Given the description of an element on the screen output the (x, y) to click on. 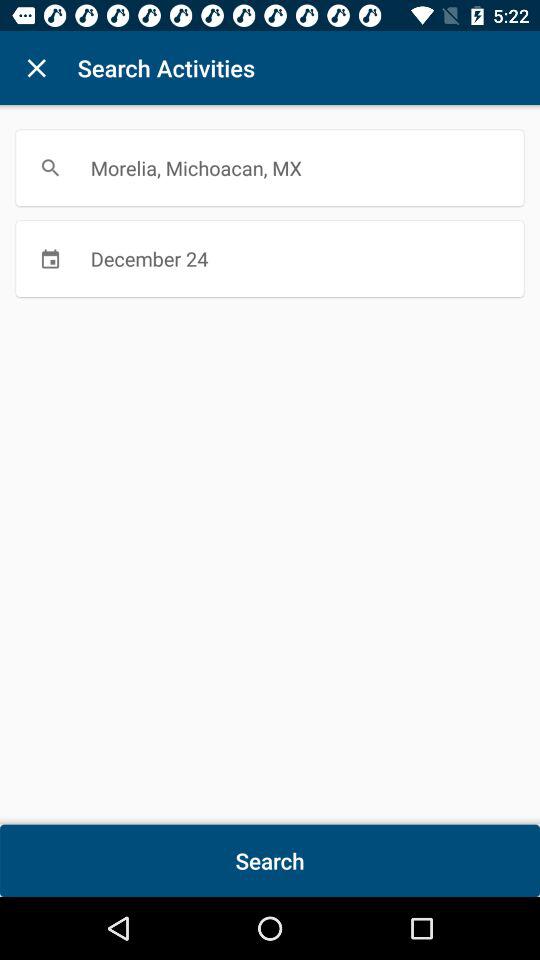
swipe until the morelia, michoacan, mx item (269, 168)
